Given the description of an element on the screen output the (x, y) to click on. 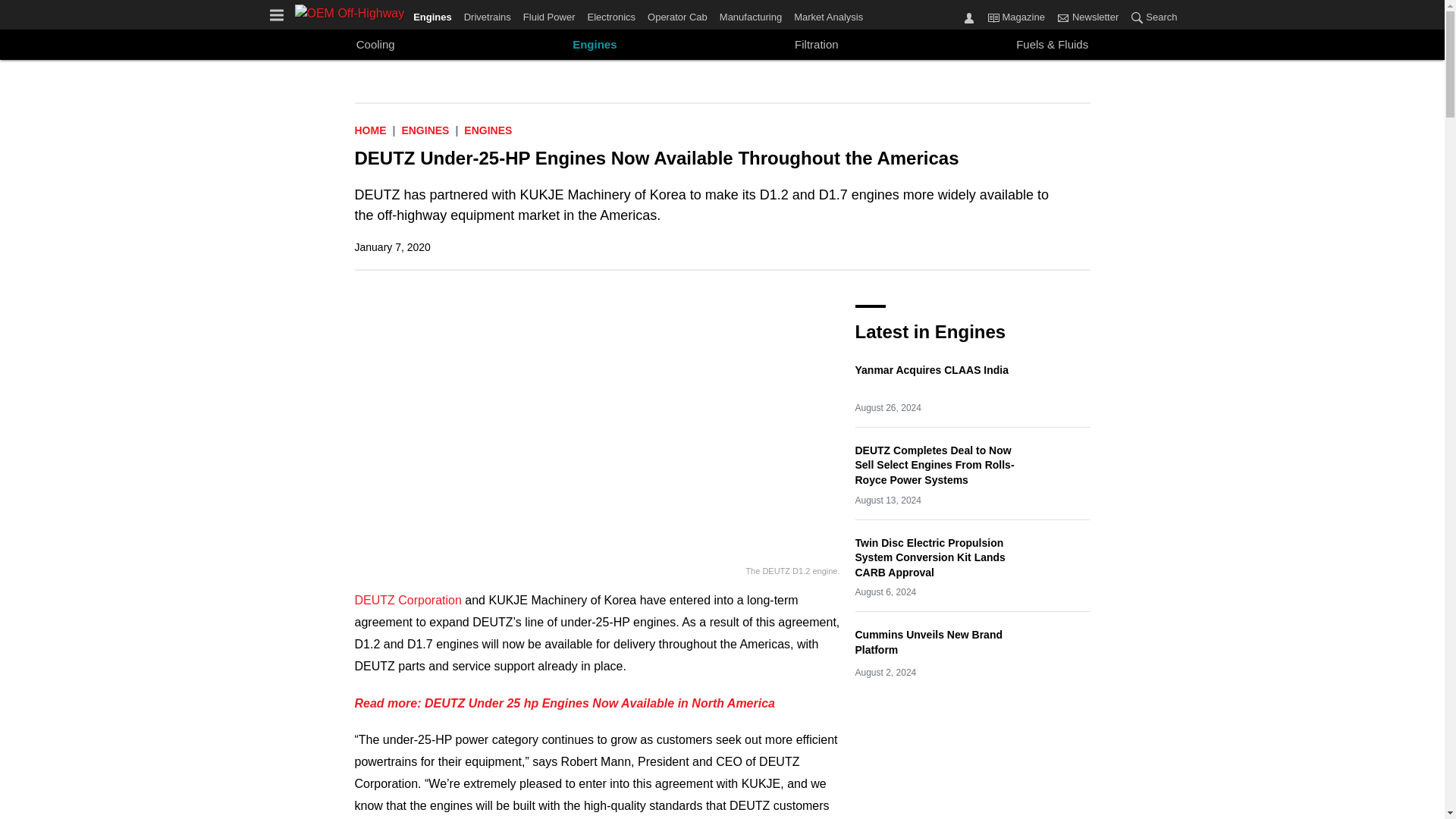
Manufacturing (750, 14)
Magazine (1016, 17)
Electronics (611, 14)
Sign In (968, 16)
Operator Cab (677, 14)
Newsletter (1087, 17)
Engines (424, 130)
Home (371, 130)
Engines (435, 14)
Engines (594, 45)
